Given the description of an element on the screen output the (x, y) to click on. 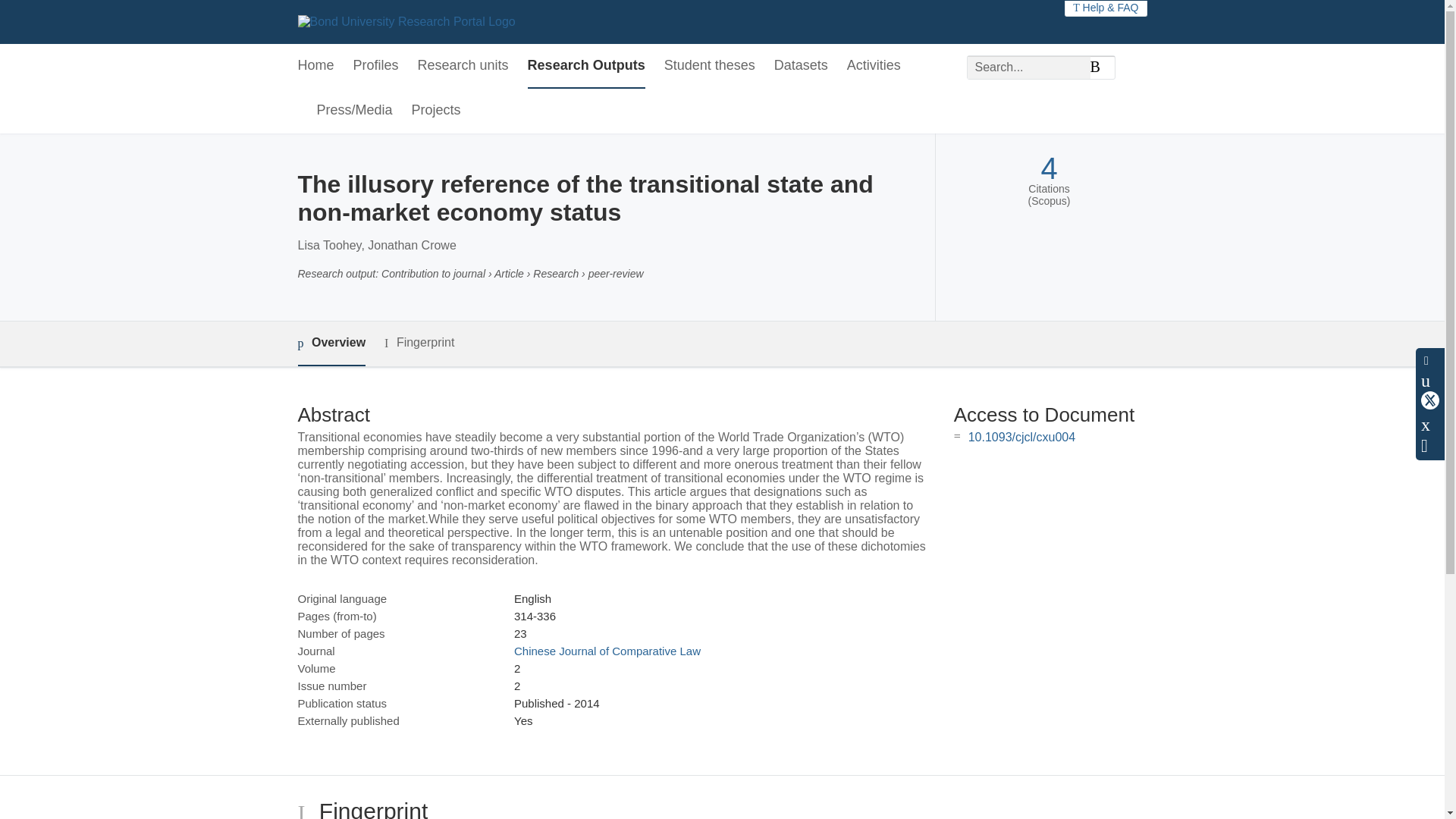
Bond University Research Portal Home (406, 21)
Datasets (801, 66)
Research units (462, 66)
Chinese Journal of Comparative Law (606, 650)
Overview (331, 343)
Student theses (709, 66)
Projects (436, 110)
Fingerprint (419, 342)
Research Outputs (586, 66)
